Given the description of an element on the screen output the (x, y) to click on. 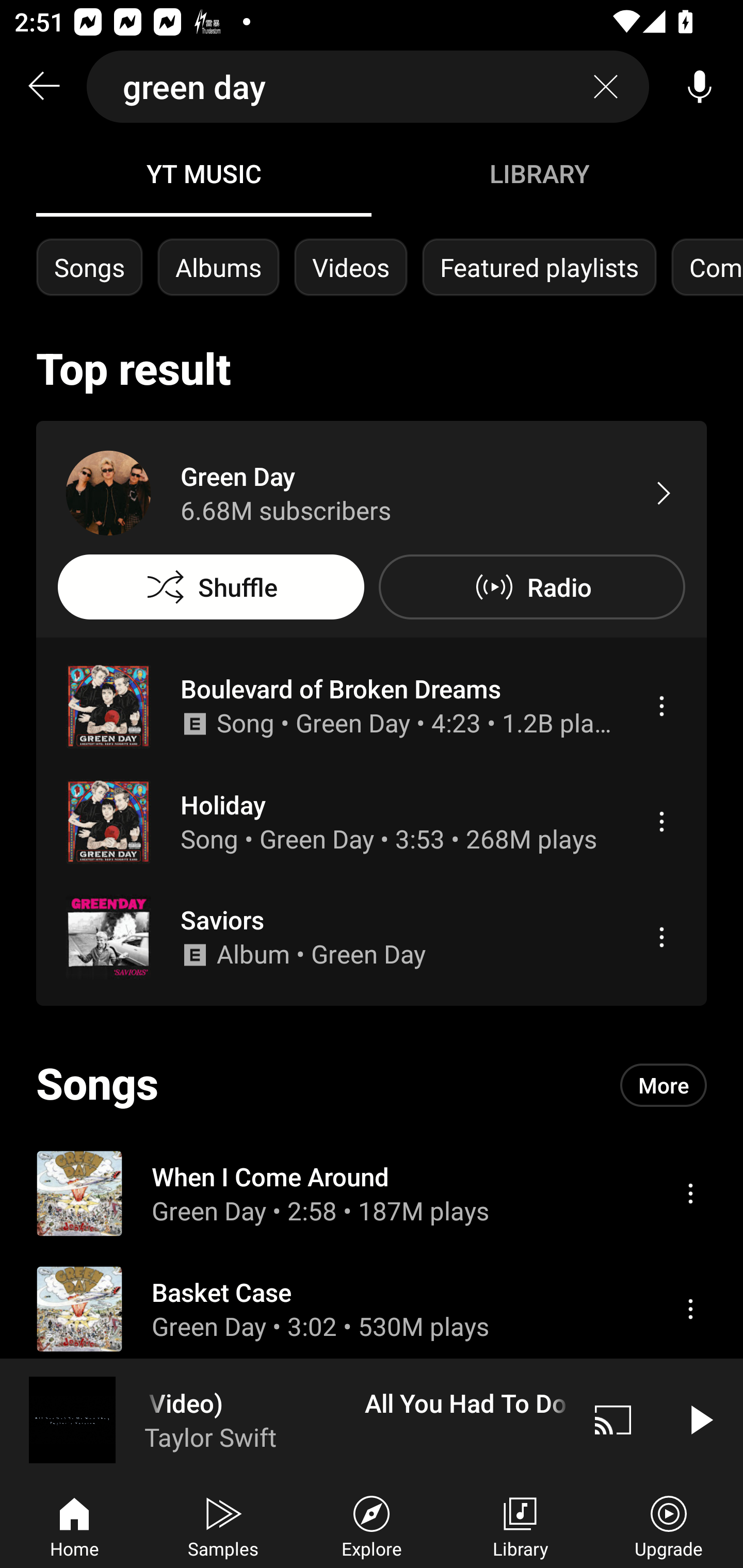
Search back (43, 86)
green day (367, 86)
Clear search (605, 86)
Voice search (699, 86)
Library LIBRARY (538, 173)
Shuffle (210, 587)
Radio (531, 587)
Menu (661, 705)
Menu (661, 821)
Menu (661, 937)
Songs More More (371, 1084)
More (663, 1085)
Menu (690, 1193)
Menu (690, 1309)
Cast. Disconnected (612, 1419)
Play video (699, 1419)
Home (74, 1524)
Samples (222, 1524)
Explore (371, 1524)
Library (519, 1524)
Upgrade (668, 1524)
